Given the description of an element on the screen output the (x, y) to click on. 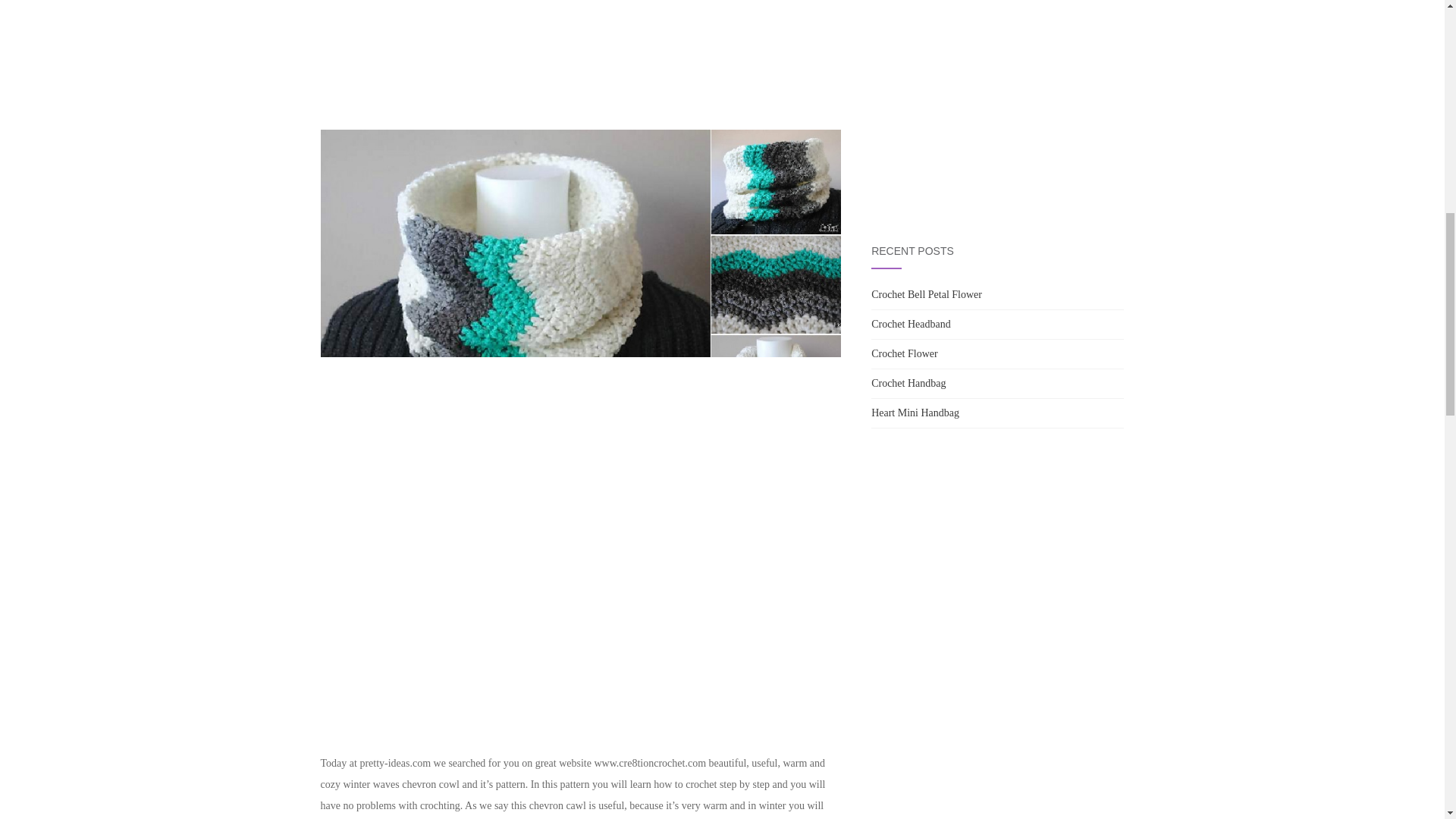
Crochetbook (997, 99)
